Given the description of an element on the screen output the (x, y) to click on. 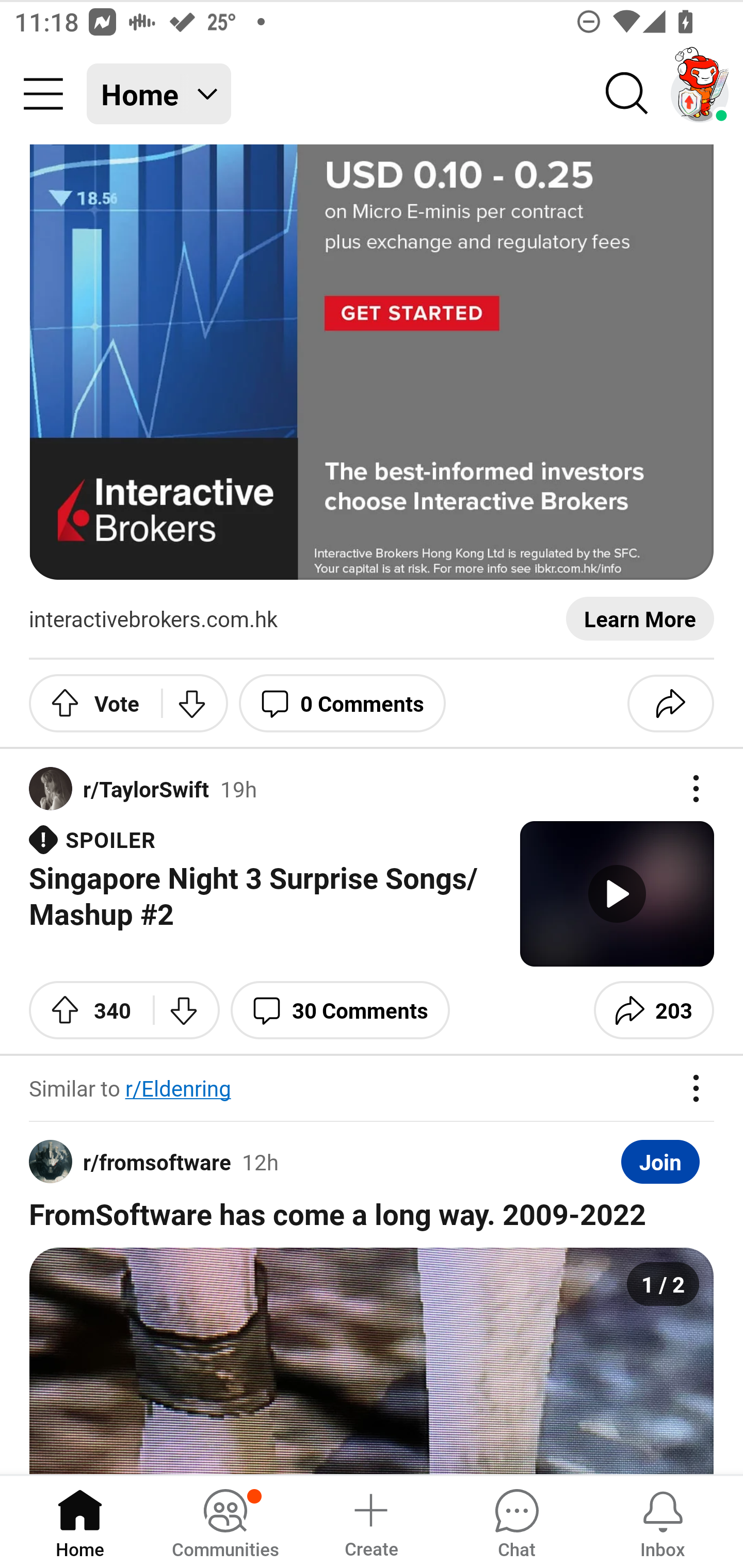
Community menu (43, 93)
Home Home feed (158, 93)
Search (626, 93)
TestAppium002 account (699, 93)
1 of 2, Image, In Image gallery 1 / 2 (371, 1360)
Home (80, 1520)
Communities, has notifications Communities (225, 1520)
Create a post Create (370, 1520)
Chat (516, 1520)
Inbox (662, 1520)
